Given the description of an element on the screen output the (x, y) to click on. 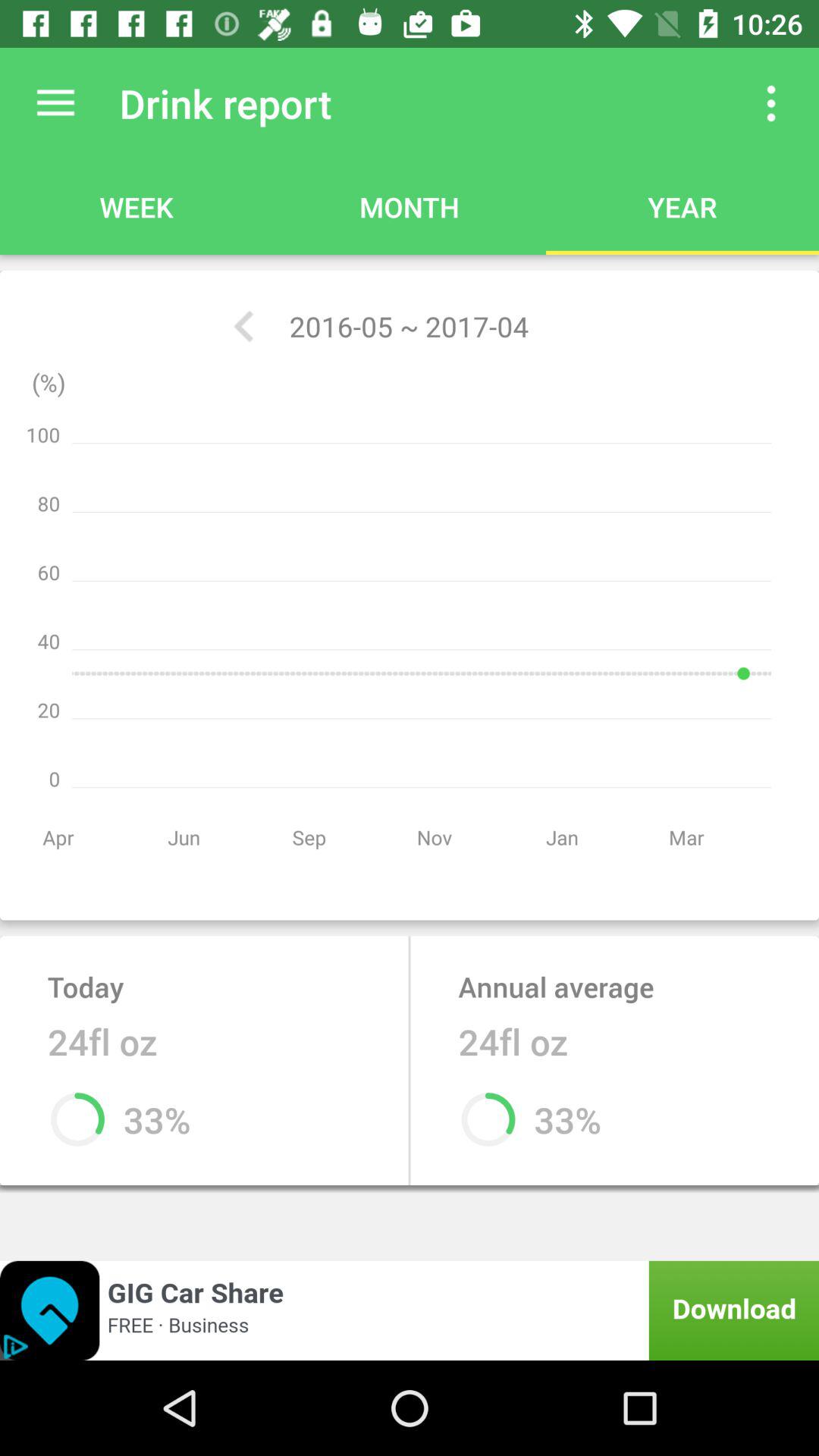
see more options (771, 103)
